Given the description of an element on the screen output the (x, y) to click on. 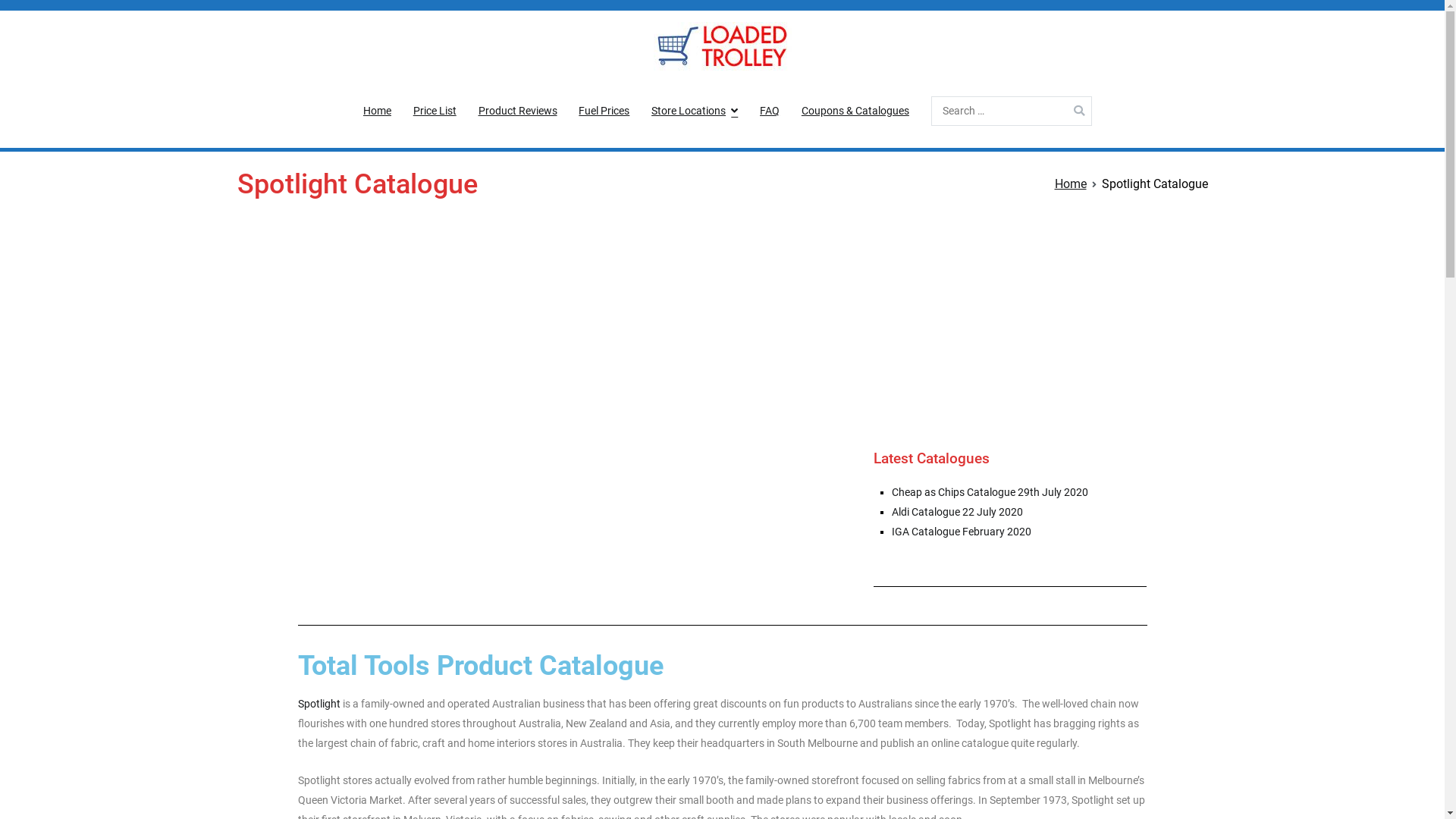
FAQ Element type: text (769, 111)
Search Element type: text (27, 14)
Spotlight Element type: text (318, 703)
Cheap as Chips Catalogue 29th July 2020 Element type: text (989, 492)
Fuel Prices Element type: text (603, 111)
Home Element type: text (377, 111)
Store Locations Element type: text (694, 111)
IGA Catalogue February 2020 Element type: text (961, 531)
Aldi Catalogue 22 July 2020 Element type: text (956, 511)
Loaded Trolley Element type: text (768, 95)
Advertisement Element type: hover (721, 329)
Coupons & Catalogues Element type: text (855, 111)
Price List Element type: text (434, 111)
Home Element type: text (1069, 183)
Product Reviews Element type: text (517, 111)
